Given the description of an element on the screen output the (x, y) to click on. 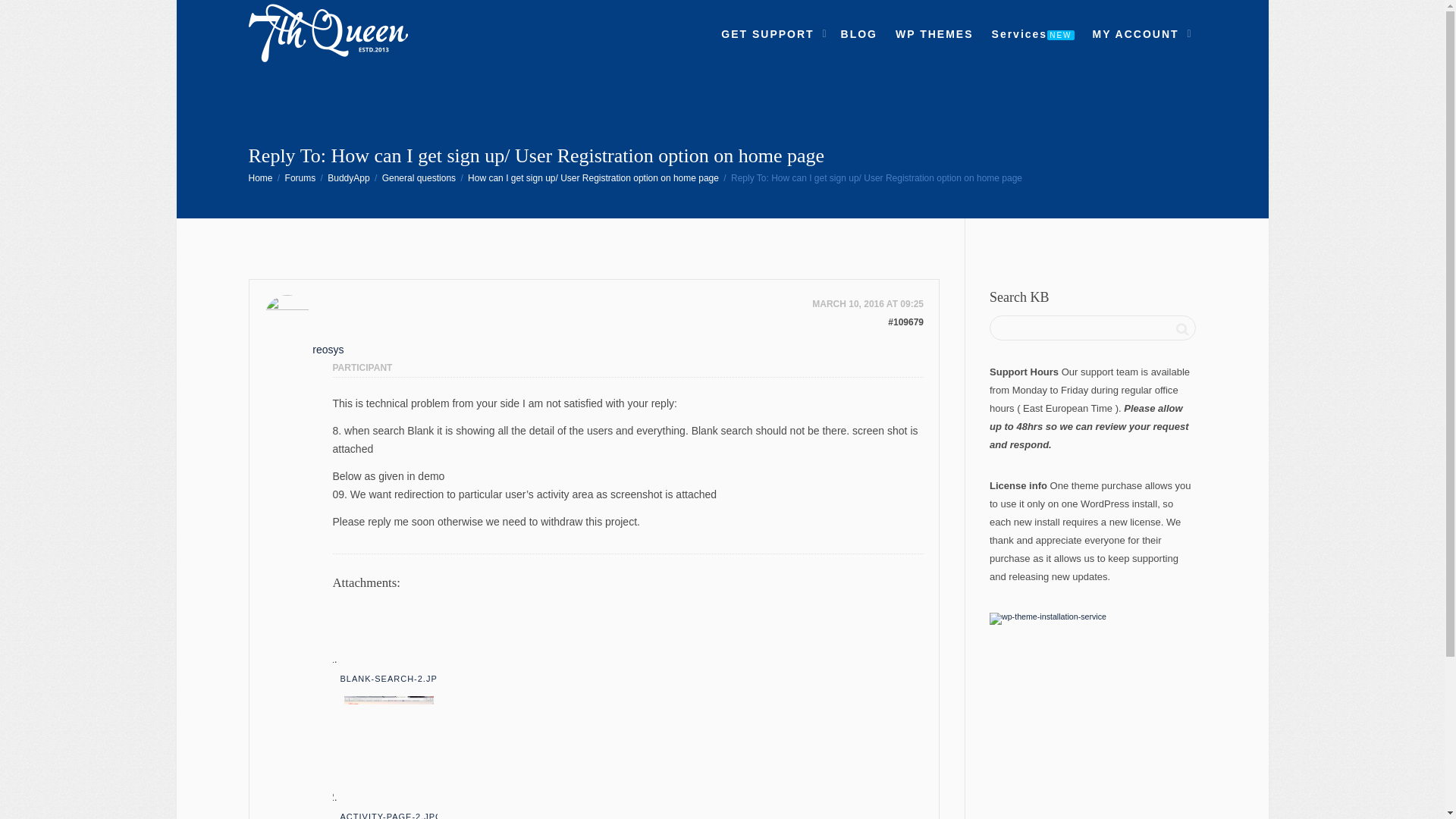
View reosys's profile (327, 328)
 reosys (327, 328)
BLANK-SEARCH-2.JPG (391, 678)
Search (1181, 329)
SeventhQueen Archived Support (328, 33)
MY ACCOUNT (1139, 33)
ACTIVITY-PAGE-2.JPG (390, 814)
Search (1181, 329)
General questions (418, 177)
GET SUPPORT (771, 33)
